Given the description of an element on the screen output the (x, y) to click on. 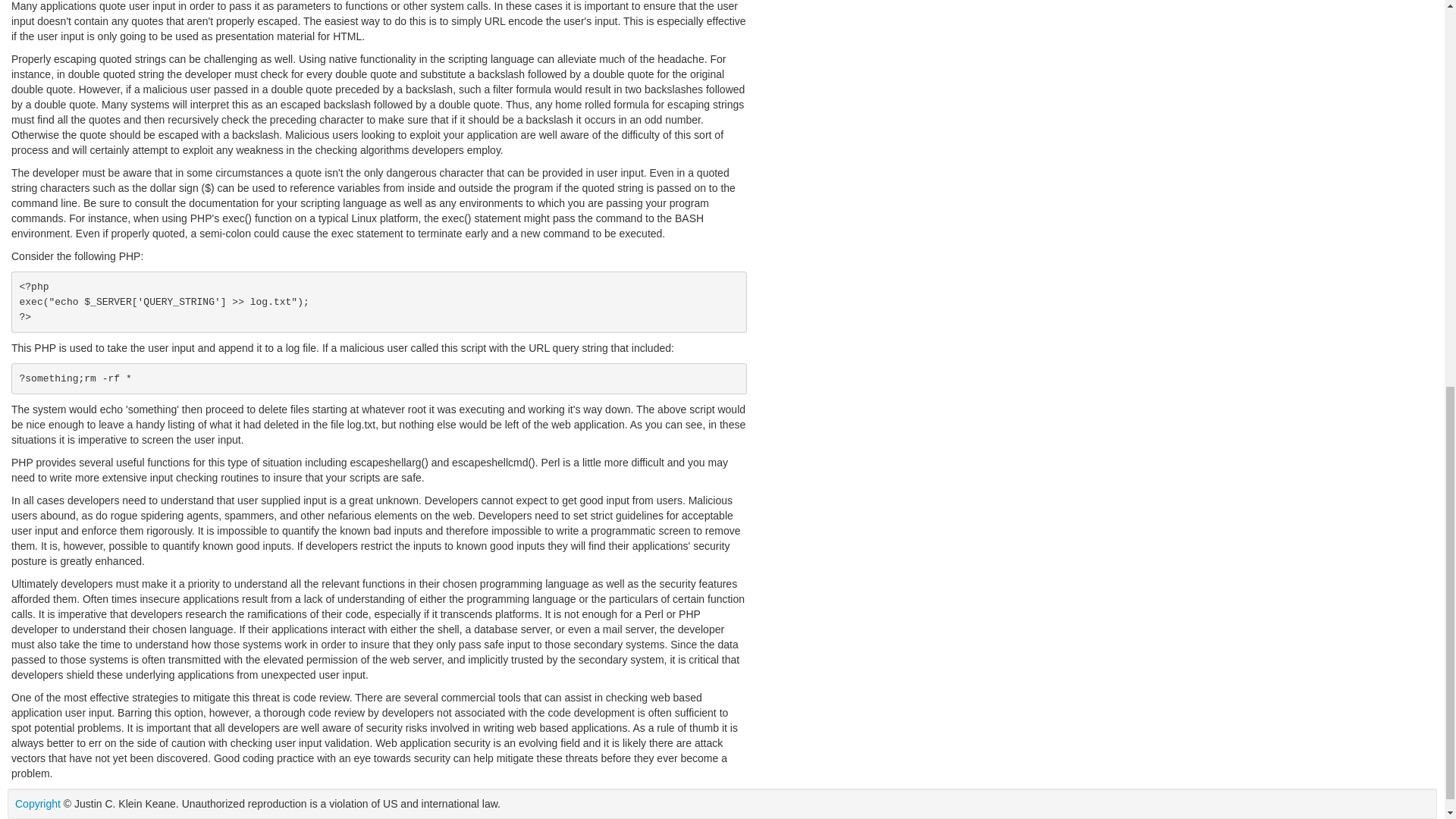
My copyright statement (37, 803)
